Given the description of an element on the screen output the (x, y) to click on. 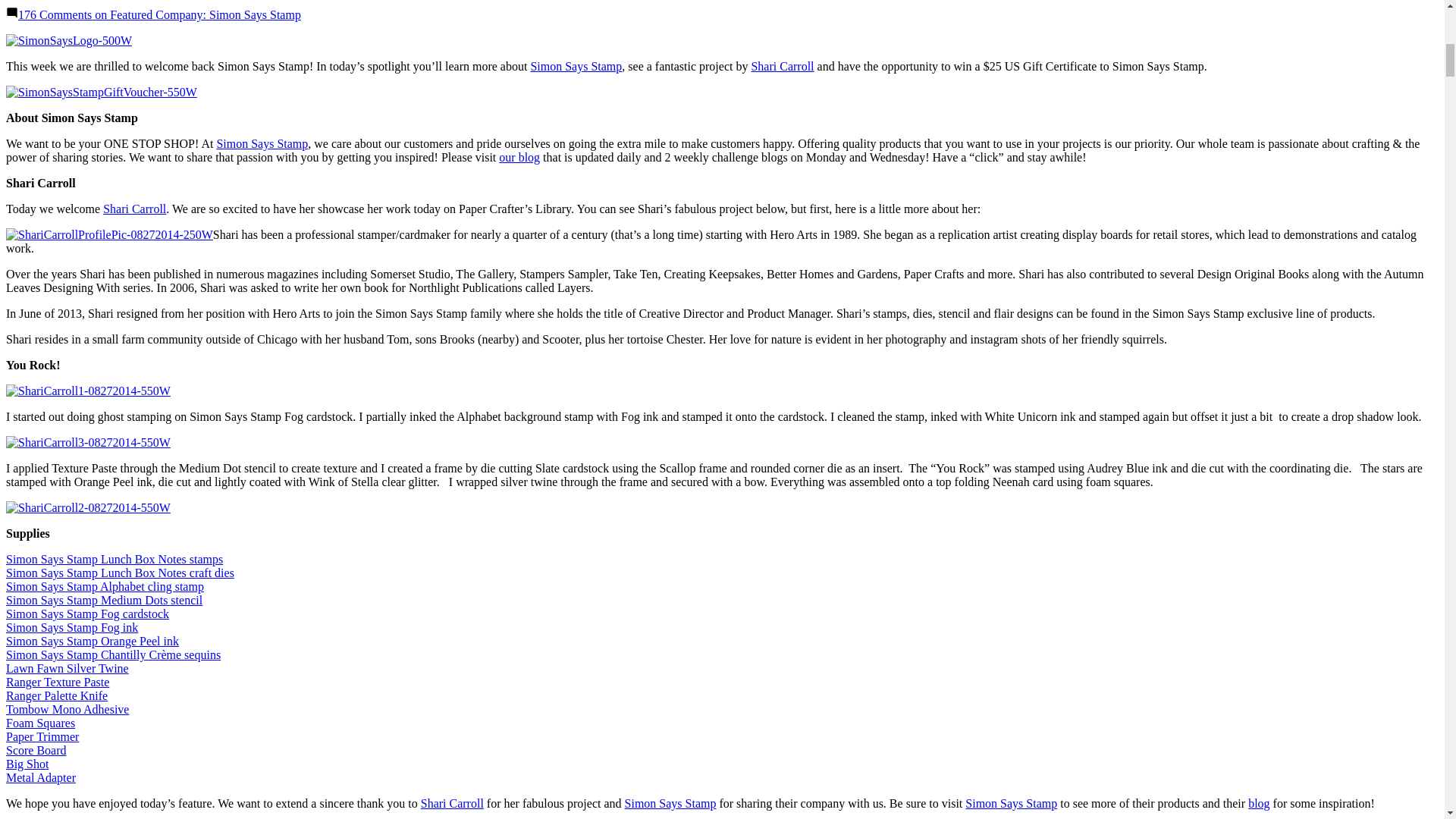
Paper Trimmer (41, 736)
Big Shot (26, 763)
Simon Says Stamp Fog ink (71, 626)
176 Comments on Featured Company: Simon Says Stamp (159, 14)
Simon Says Stamp Lunch Box Notes stamps (113, 558)
Simon Says Stamp (261, 143)
Simon Says Stamp Orange Peel ink (92, 640)
Simon Says Stamp Medium Dots stencil (103, 599)
Ranger Texture Paste (57, 681)
Simon Says Stamp Alphabet cling stamp (104, 585)
Simon Says Stamp Fog cardstock (86, 613)
Simon Says Stamp (1011, 802)
Lawn Fawn Silver Twine (67, 667)
Foam Squares (40, 722)
Shari Carroll (782, 65)
